Given the description of an element on the screen output the (x, y) to click on. 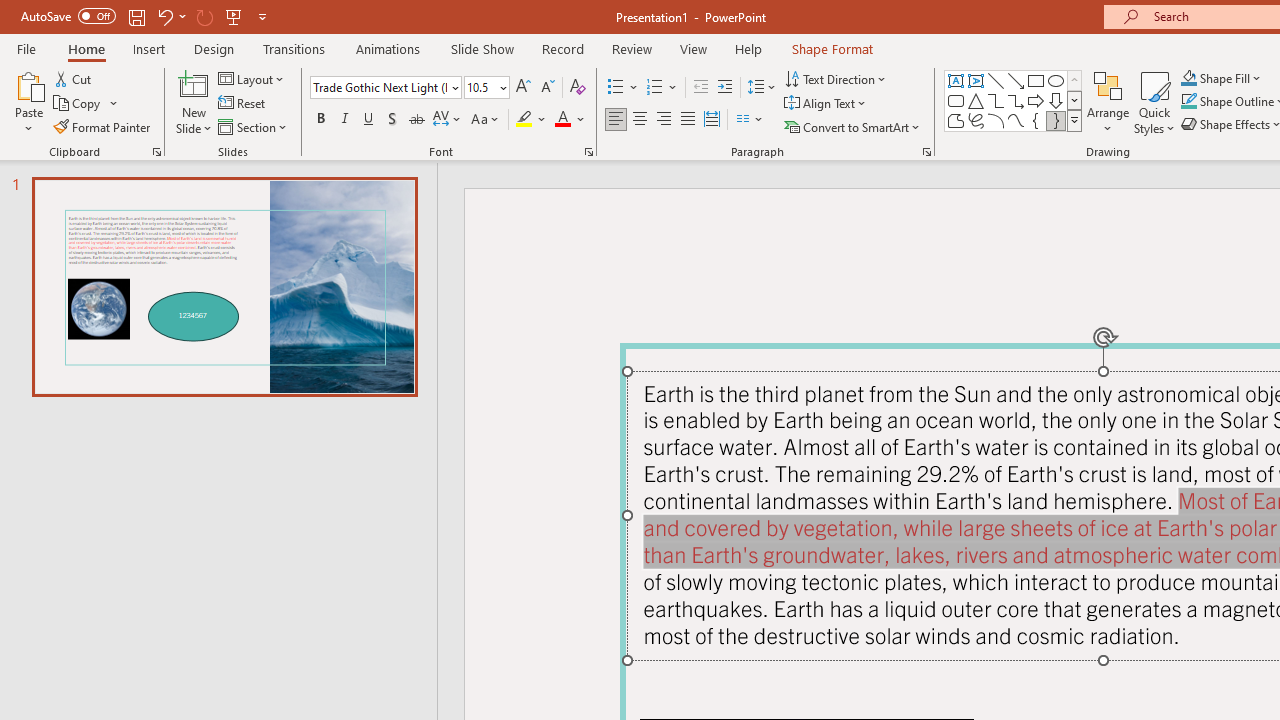
Text Highlight Color Yellow (524, 119)
Font Color Red (562, 119)
Font... (588, 151)
Arrow: Down (1055, 100)
Bold (320, 119)
Justify (687, 119)
Connector: Elbow (995, 100)
